Given the description of an element on the screen output the (x, y) to click on. 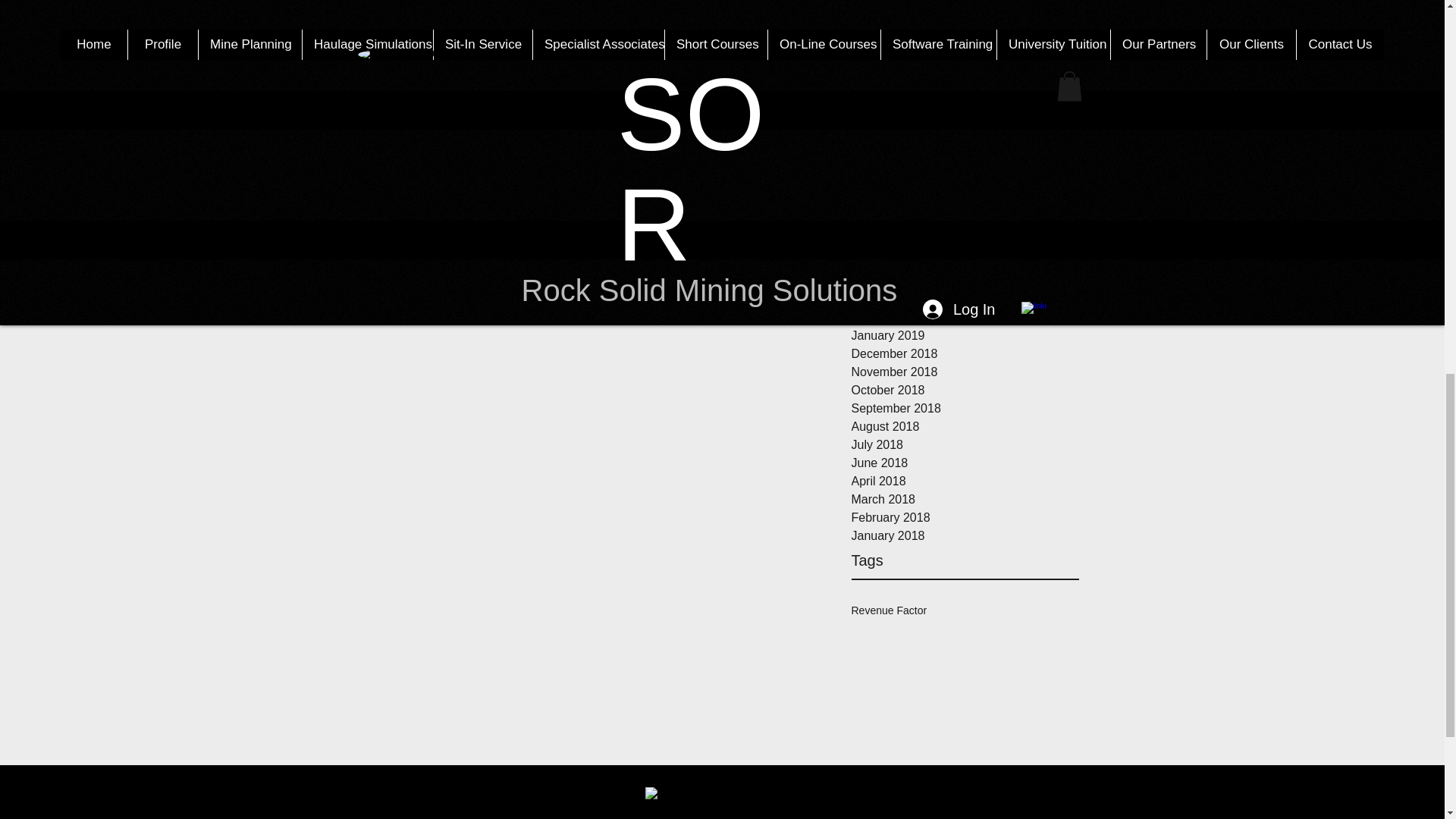
May 2020 (964, 45)
June 2020 (964, 26)
July 2020 (964, 8)
November 2019 (964, 153)
January 2020 (964, 117)
December 2019 (964, 135)
February 2020 (964, 99)
October 2019 (964, 171)
September 2019 (964, 189)
April 2020 (964, 63)
